Given the description of an element on the screen output the (x, y) to click on. 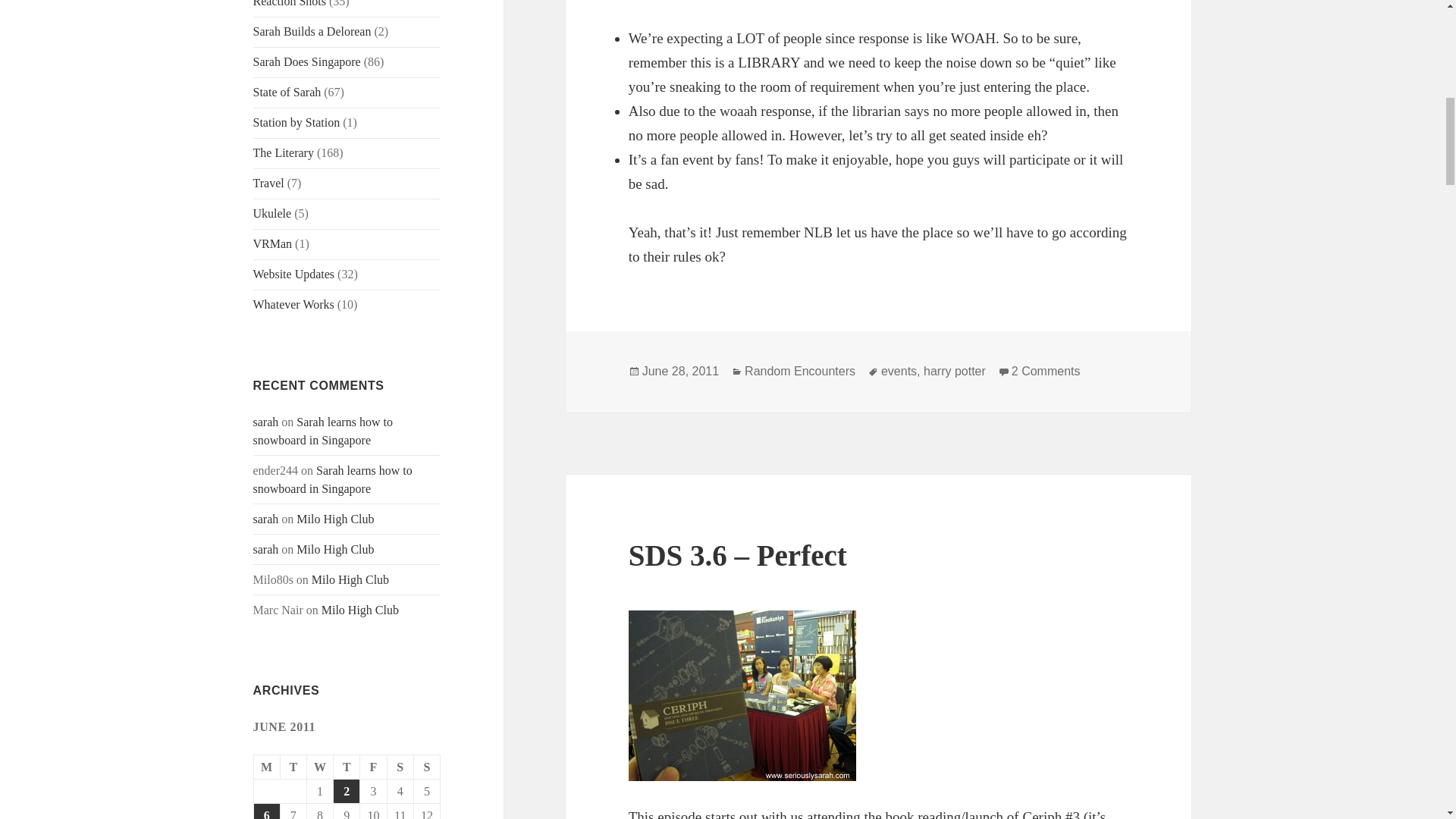
Ukulele (272, 213)
6 (266, 811)
Milo High Club (335, 549)
Wednesday (320, 767)
Milo High Club (359, 609)
Thursday (346, 767)
Sarah learns how to snowboard in Singapore (332, 479)
sarah (266, 421)
Whatever Works (293, 304)
Station by Station (296, 122)
Sarah Builds a Delorean (312, 31)
Saturday (400, 767)
Sarah Does Singapore (307, 61)
Reaction Shots (289, 3)
sarah (266, 549)
